Given the description of an element on the screen output the (x, y) to click on. 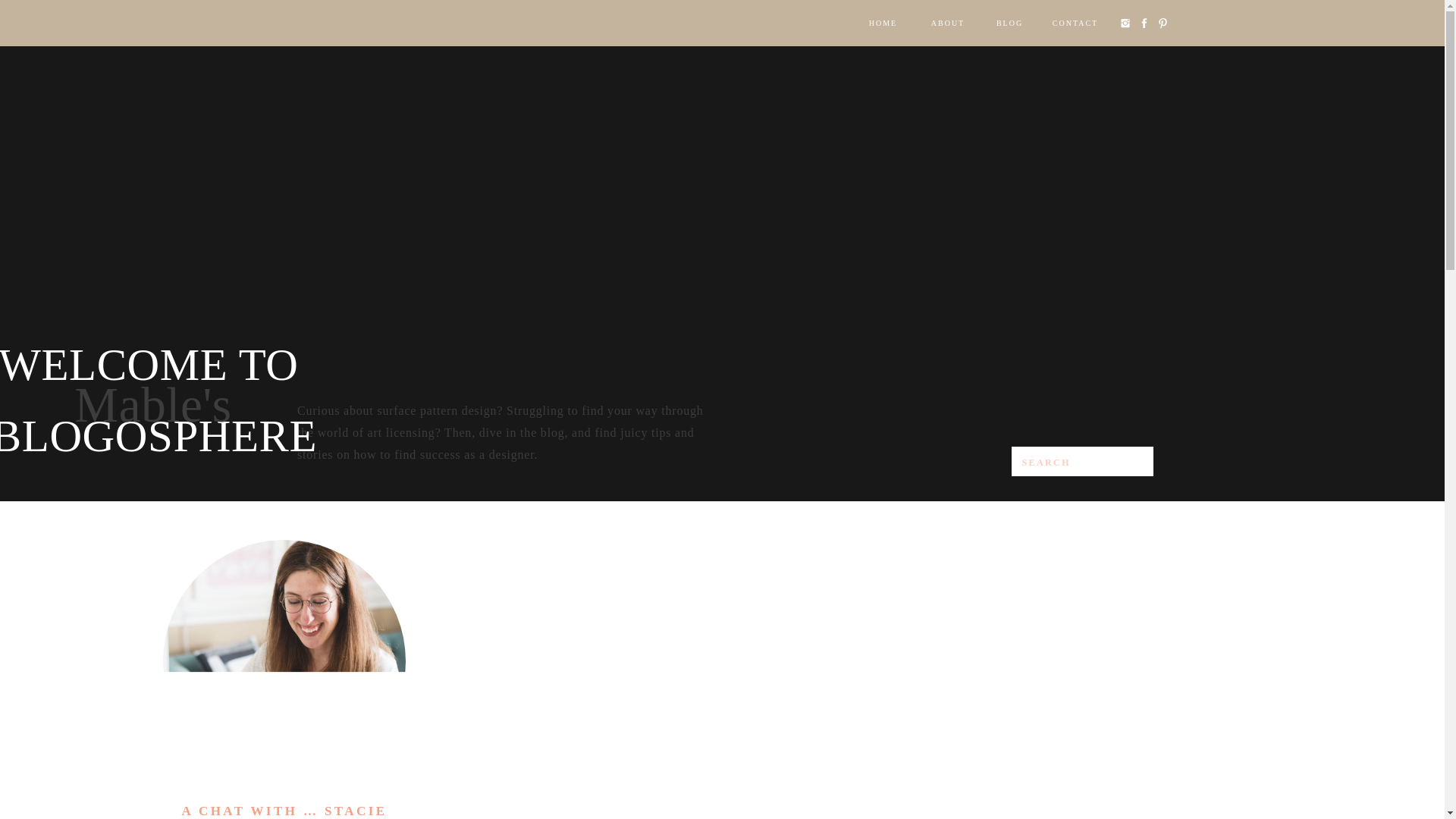
HOME (882, 22)
CONTACT (1074, 22)
BLOG (1008, 22)
ABOUT (947, 22)
